Given the description of an element on the screen output the (x, y) to click on. 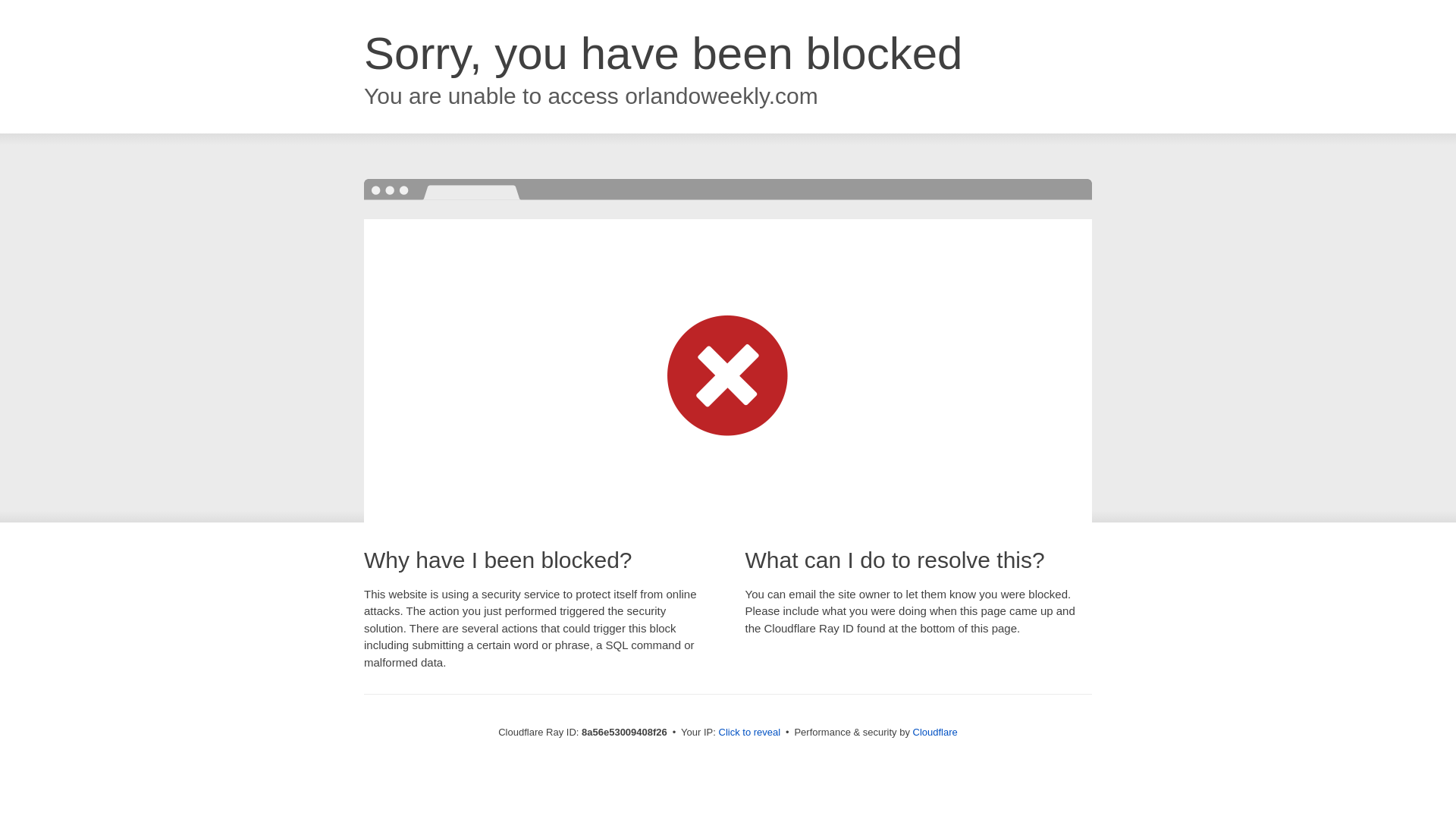
Cloudflare (935, 731)
Click to reveal (749, 732)
